Given the description of an element on the screen output the (x, y) to click on. 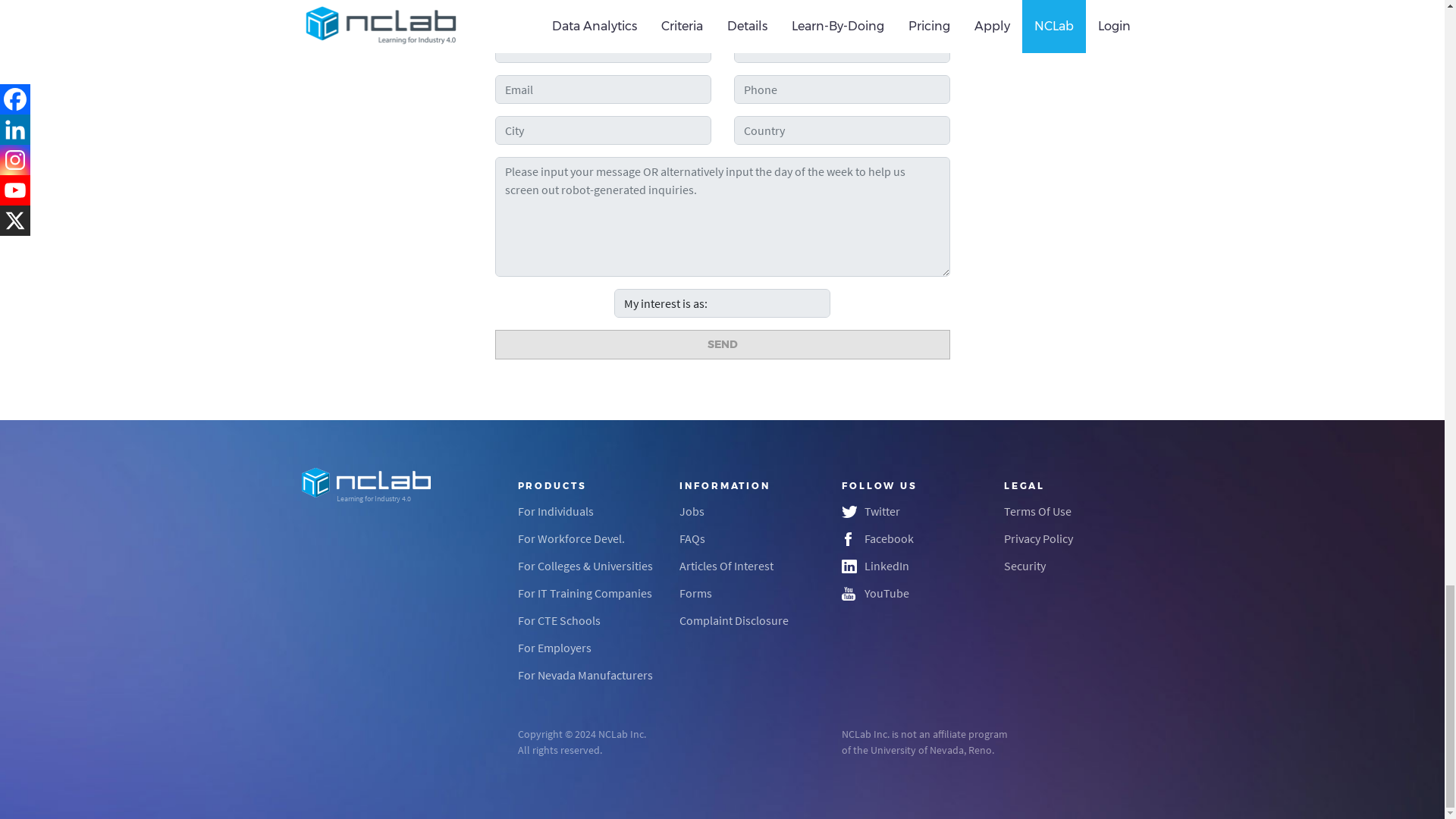
Join us on LinkedIn (886, 565)
Jobs (691, 510)
Articles Of Interest (726, 565)
Learning for Industry 4.0 (386, 484)
For IT Training Companies (583, 592)
Twitter (881, 510)
For Nevada Manufacturers (584, 674)
FAQs (691, 538)
Terms Of Use (1037, 510)
Join us on Facebook (889, 538)
